Given the description of an element on the screen output the (x, y) to click on. 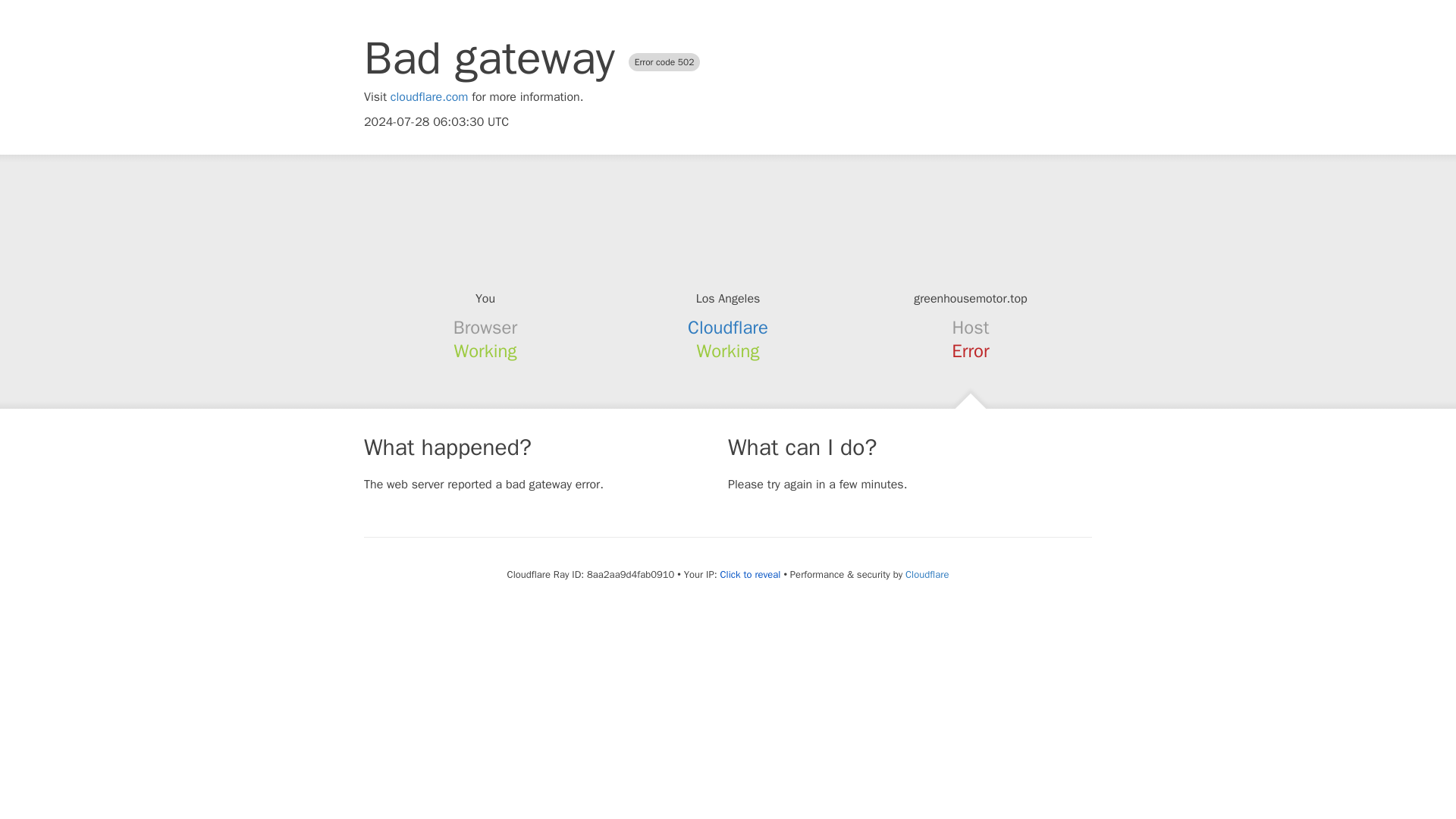
cloudflare.com (429, 96)
Click to reveal (750, 574)
Cloudflare (927, 574)
Cloudflare (727, 327)
